Given the description of an element on the screen output the (x, y) to click on. 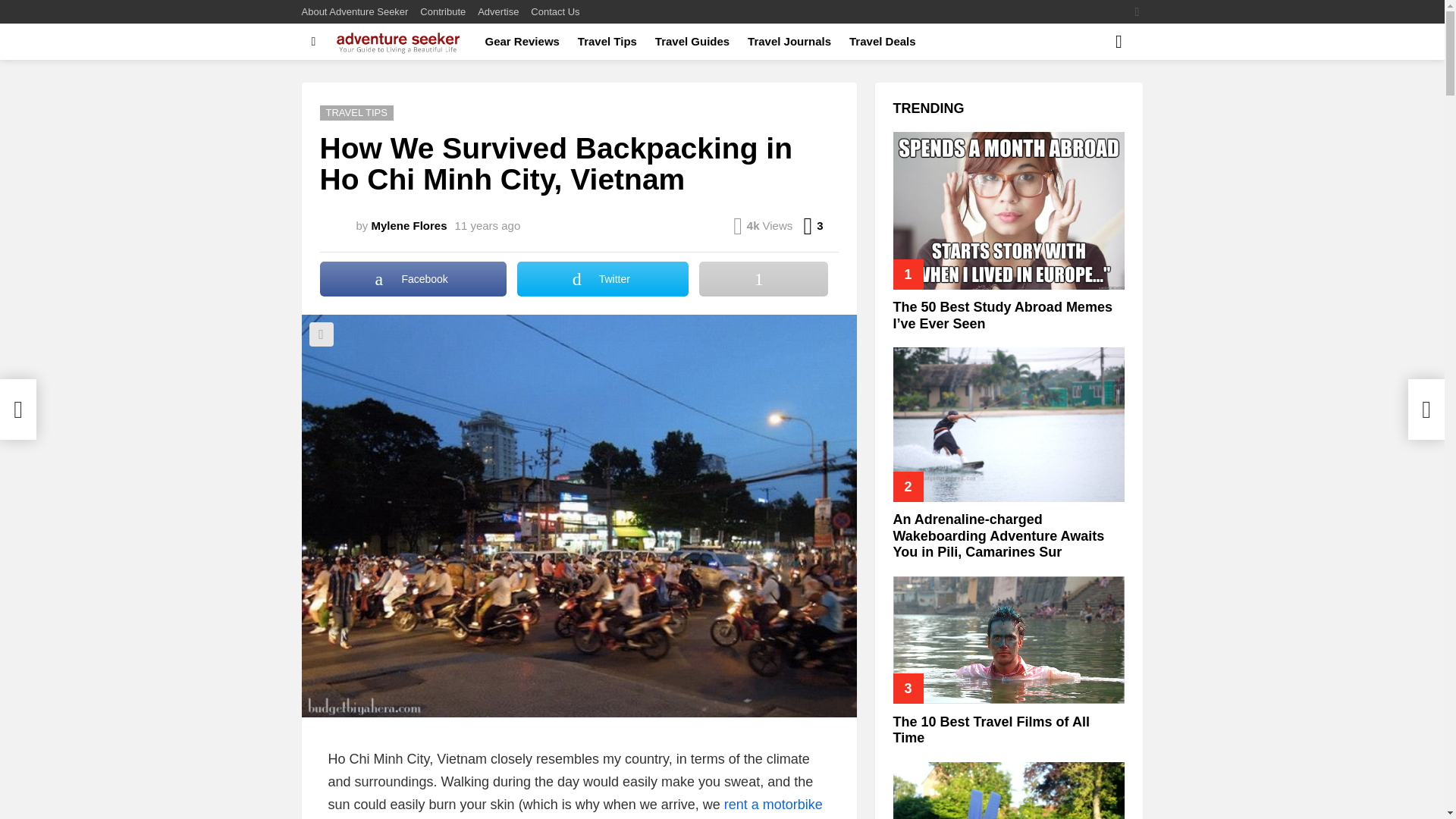
rent a motorbike in Vietnam for a few weeks (574, 807)
Share on Twitter (602, 278)
Contact Us (555, 12)
Share on Facebook (413, 278)
Travel Guides (691, 41)
Facebook (413, 278)
Posts by Mylene Flores (408, 225)
Advertise (497, 12)
Travel Tips (607, 41)
TRAVEL TIPS (356, 112)
Gear Reviews (522, 41)
February 13, 2013, 9:00 am (487, 225)
Share (320, 334)
About Adventure Seeker (355, 12)
Twitter (602, 278)
